Given the description of an element on the screen output the (x, y) to click on. 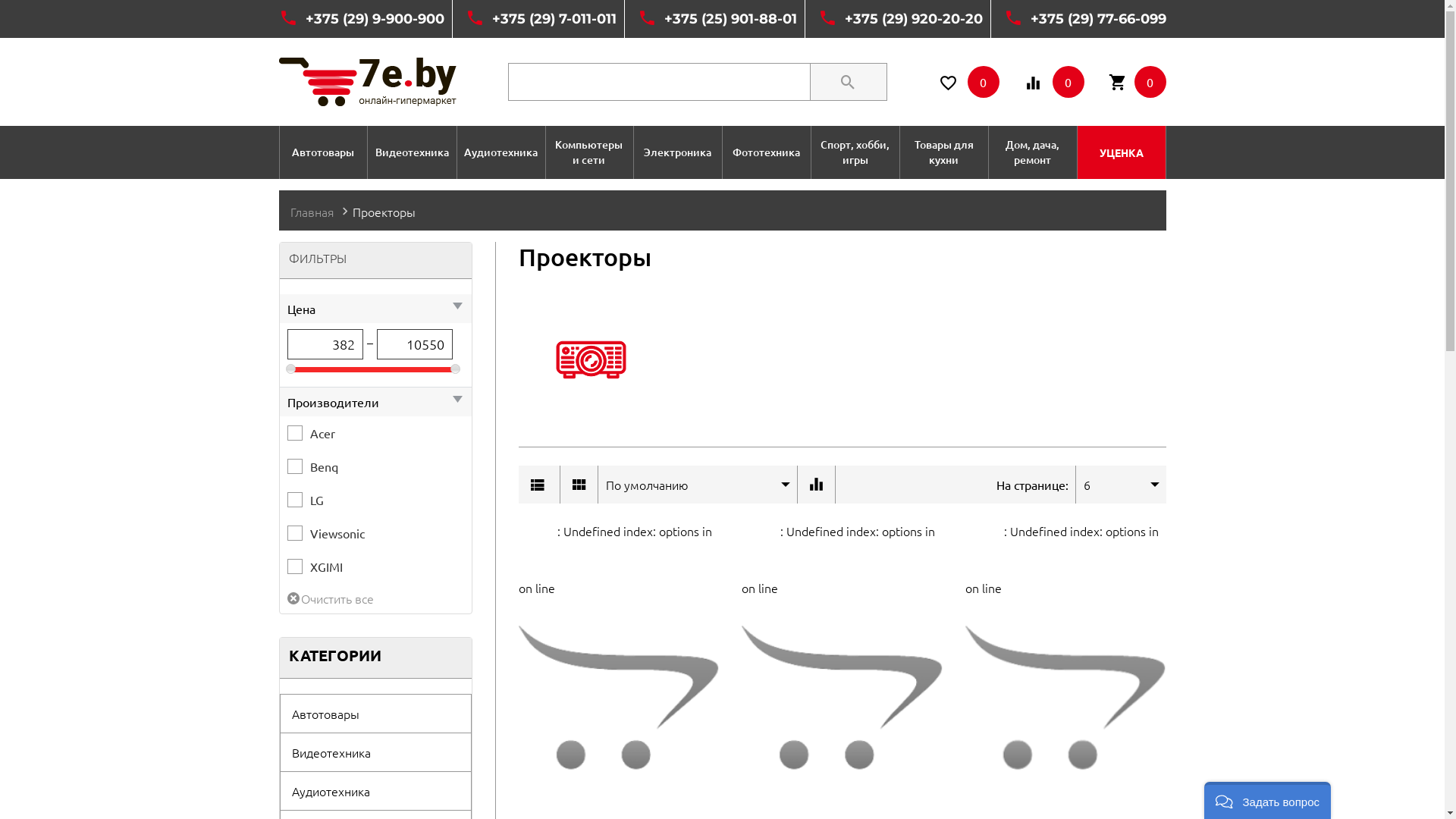
+375 (29) 920-20-20 Element type: text (913, 18)
+375 (29) 7-011-011 Element type: text (553, 18)
+375 (29) 9-900-900 Element type: text (373, 18)
+375 (25) 901-88-01 Element type: text (730, 18)
+375 (29) 77-66-099 Element type: text (1097, 18)
0 Element type: text (968, 81)
0 Element type: text (1053, 81)
0 Element type: text (1137, 81)
6 Element type: text (1108, 484)
